Given the description of an element on the screen output the (x, y) to click on. 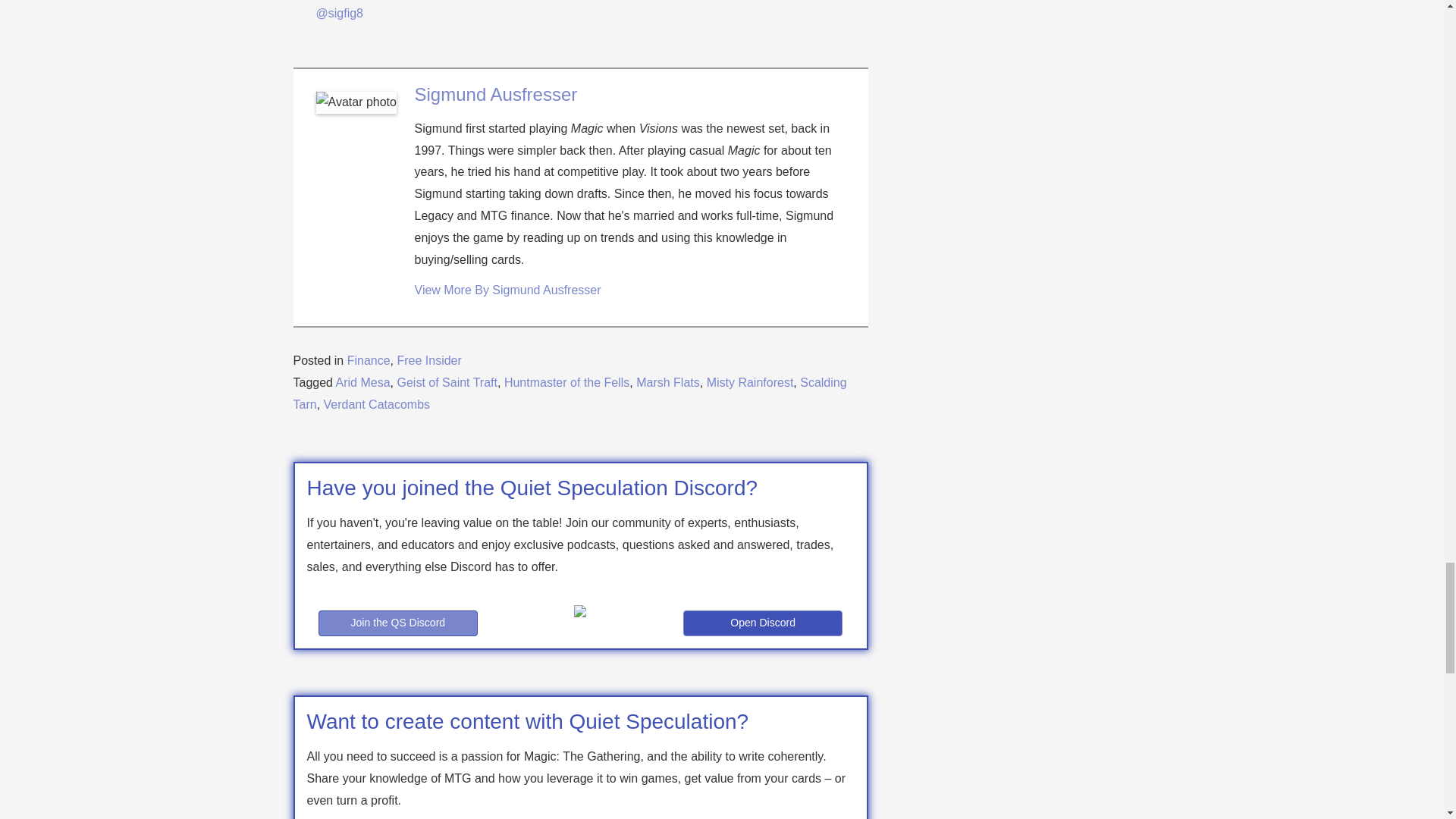
Sigmund Ausfresser (494, 94)
Finance (368, 359)
View More By Sigmund Ausfresser (506, 289)
More posts by Sigmund Ausfresser (506, 289)
Free Insider (428, 359)
Sigmund Ausfresser (494, 94)
